Given the description of an element on the screen output the (x, y) to click on. 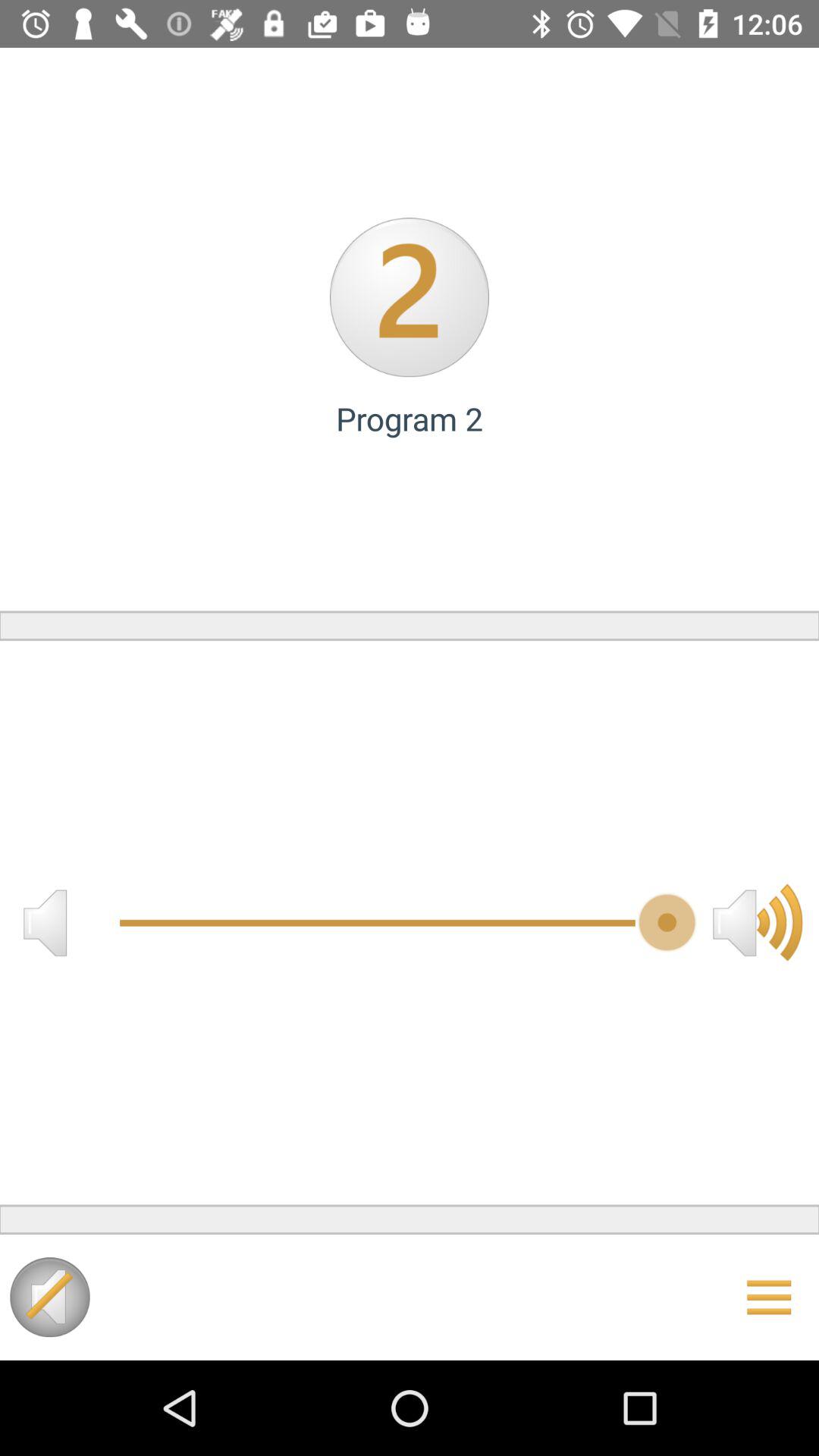
mute (49, 1297)
